Given the description of an element on the screen output the (x, y) to click on. 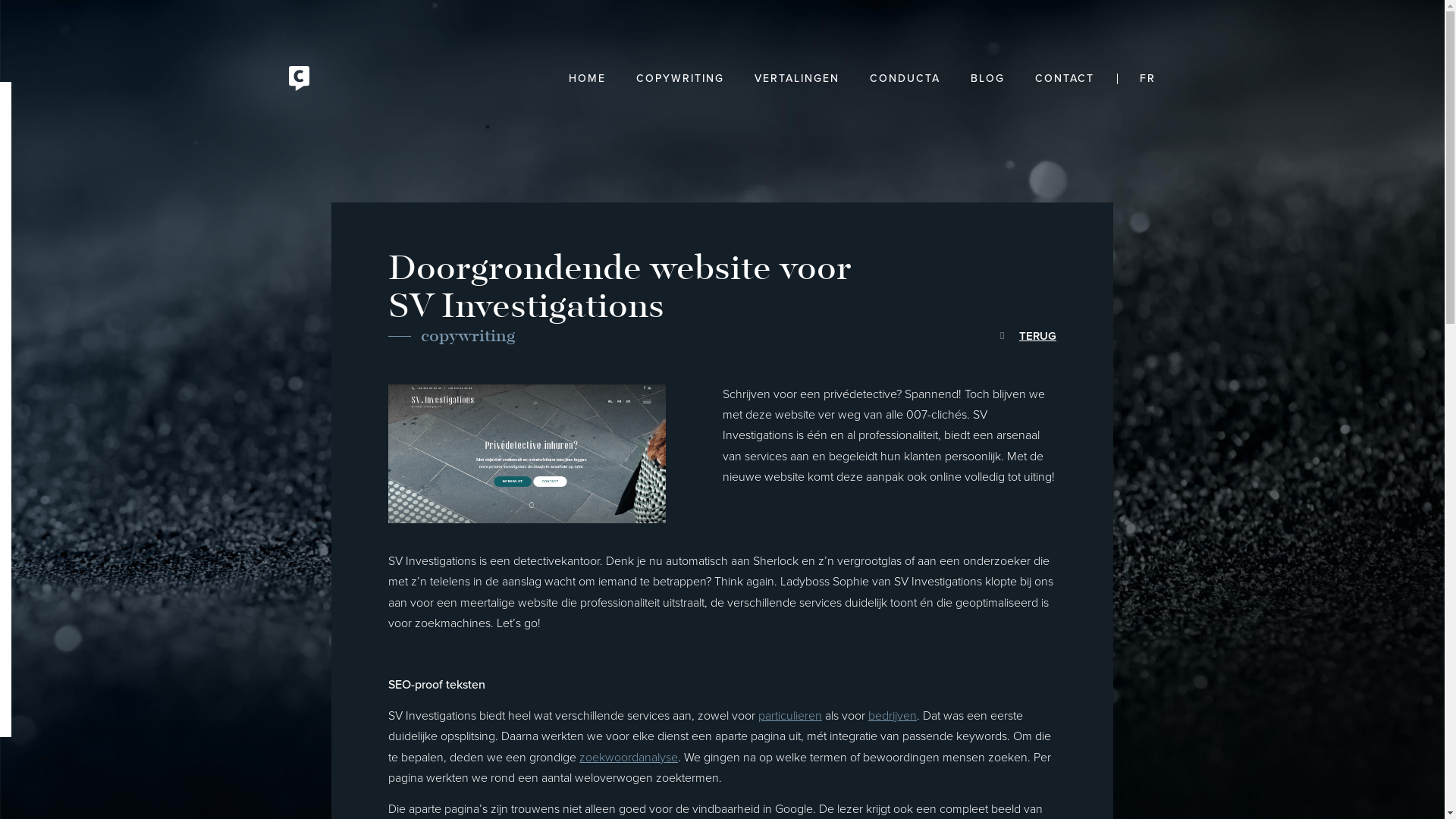
CONTACT Element type: text (1064, 77)
VERTALINGEN Element type: text (796, 77)
FR Element type: text (1132, 77)
TERUG Element type: text (1028, 335)
HOME Element type: text (587, 77)
BLOG Element type: text (987, 77)
CONDUCTA Element type: text (904, 77)
bedrijven Element type: text (892, 715)
particulieren Element type: text (790, 715)
COPYWRITING Element type: text (680, 77)
zoekwoordanalyse Element type: text (628, 757)
